Given the description of an element on the screen output the (x, y) to click on. 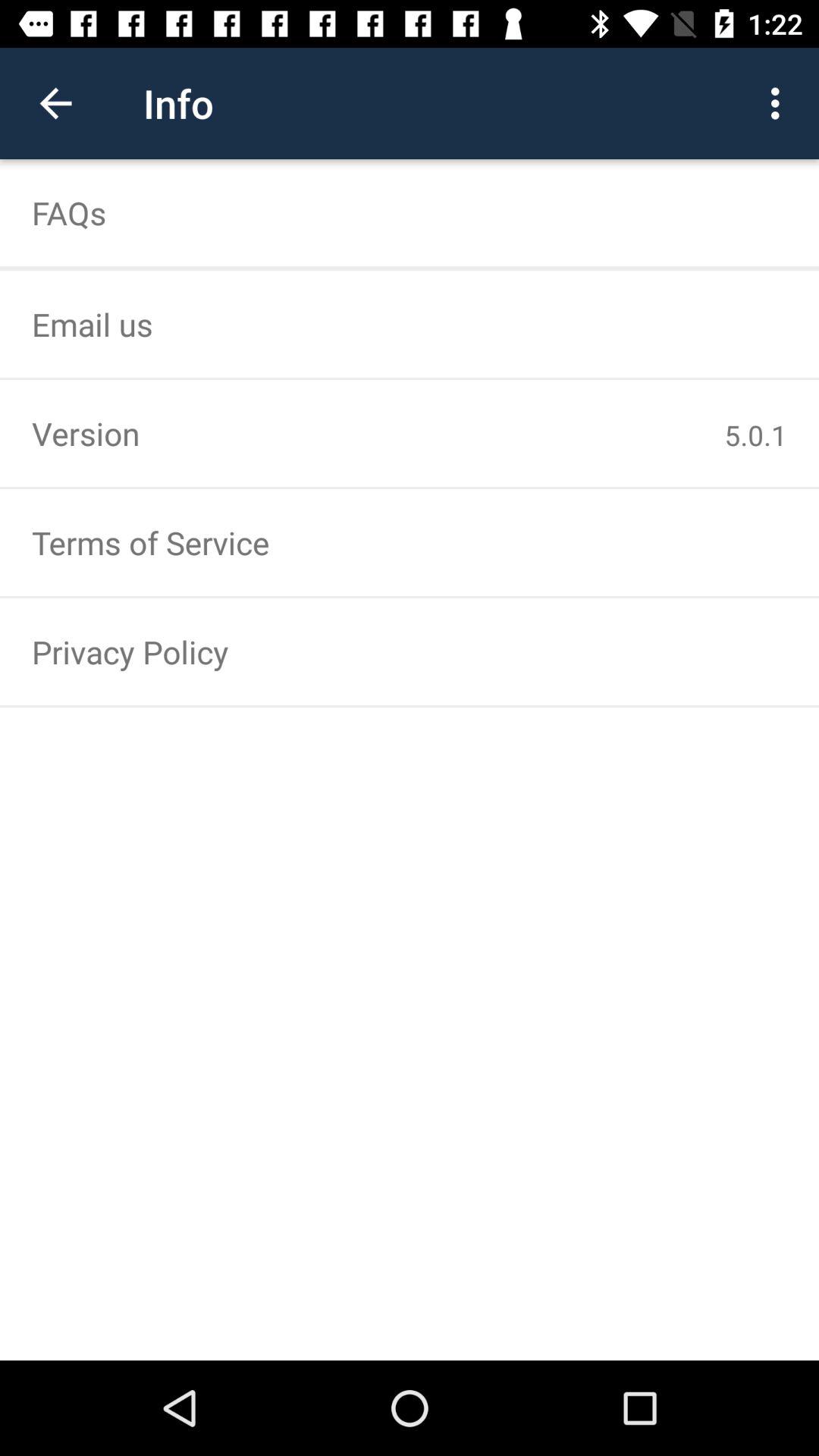
select the icon above the faqs icon (55, 103)
